Given the description of an element on the screen output the (x, y) to click on. 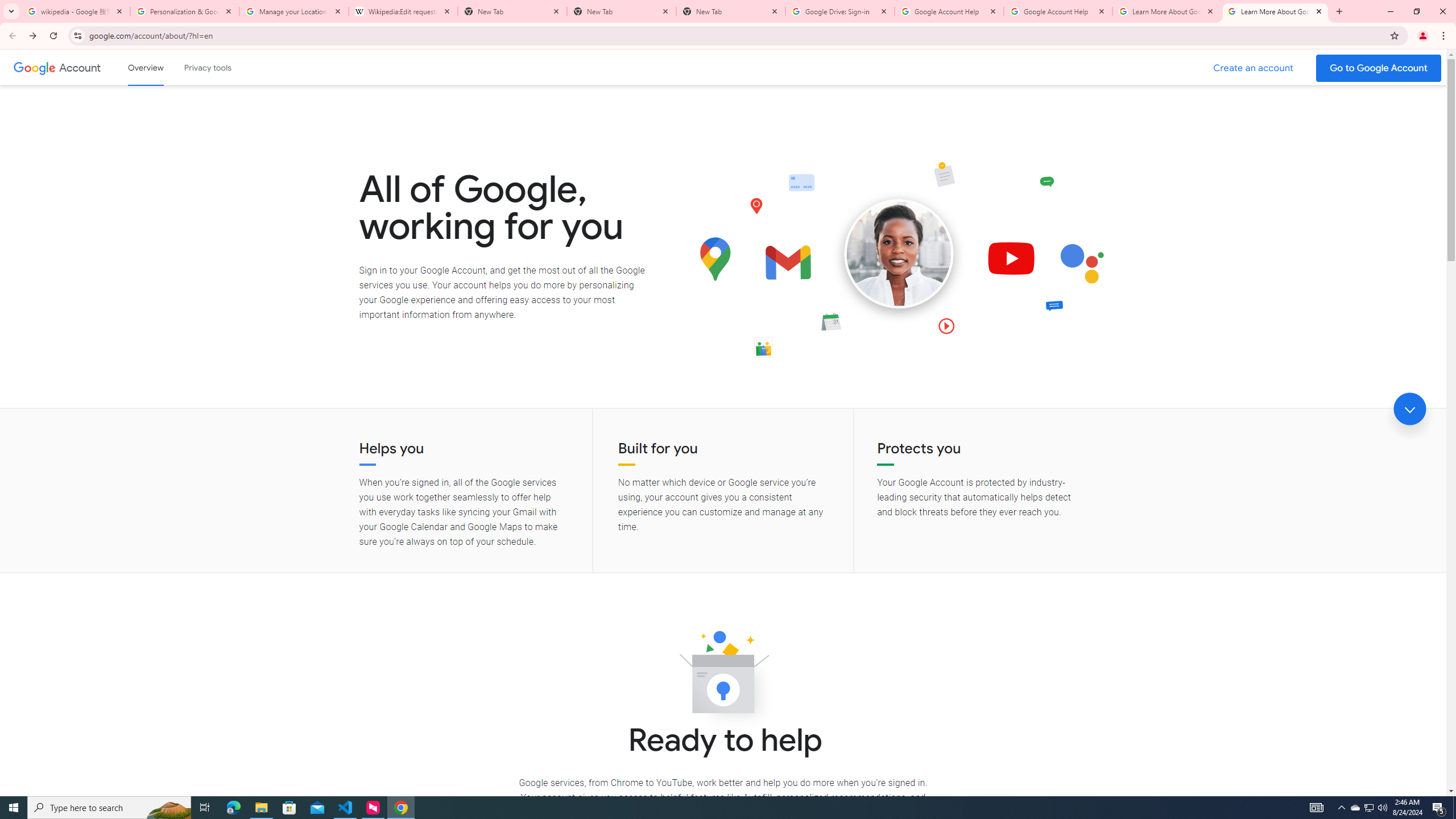
Ready to help (722, 675)
Google logo (34, 67)
Google Account Help (949, 11)
Google Account Help (1058, 11)
Privacy tools (207, 67)
Manage your Location History - Google Search Help (293, 11)
Personalization & Google Search results - Google Search Help (184, 11)
Google Account overview (145, 67)
